Given the description of an element on the screen output the (x, y) to click on. 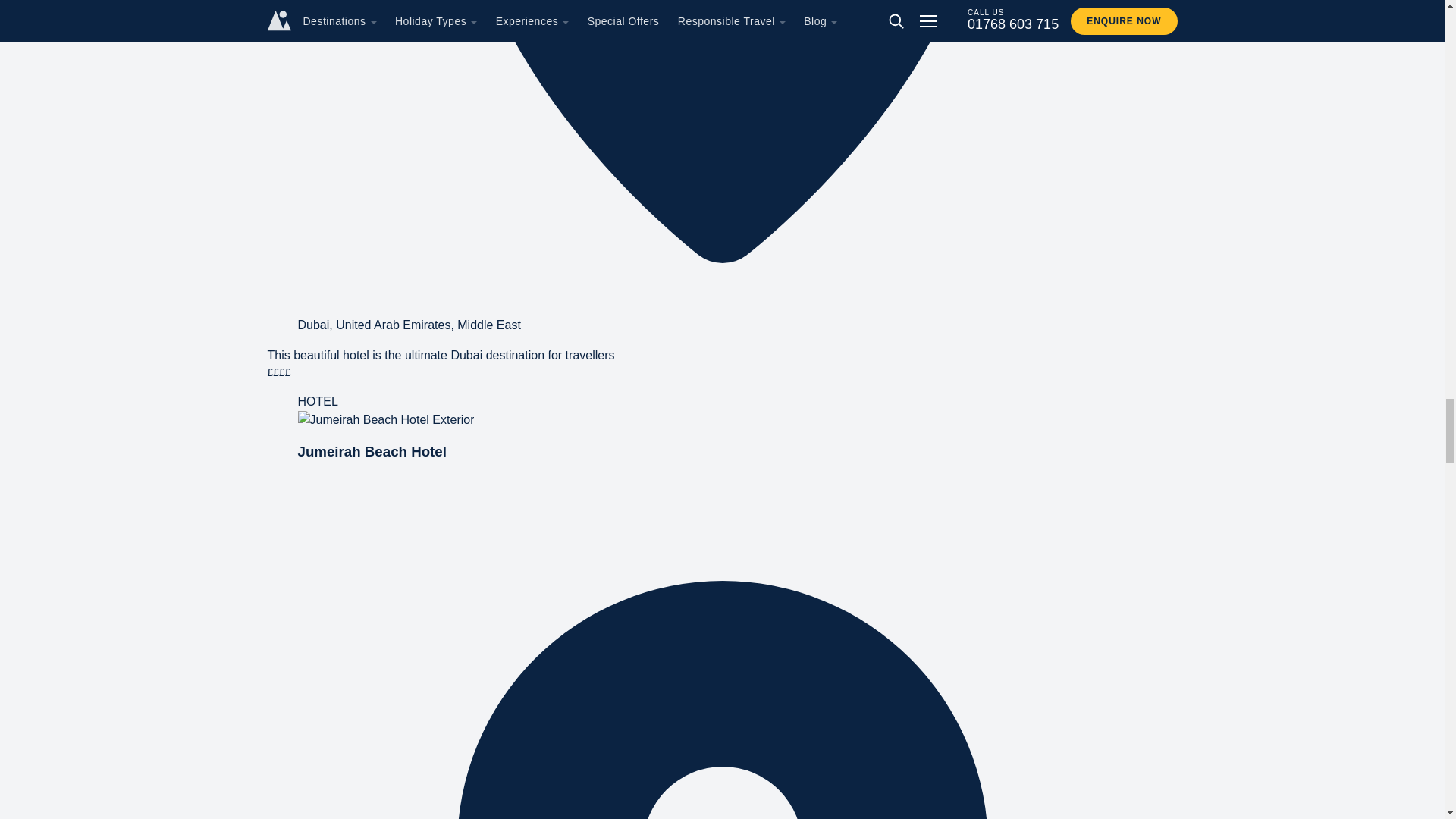
Jumeirah Beach Hotel Exterior (385, 420)
